Given the description of an element on the screen output the (x, y) to click on. 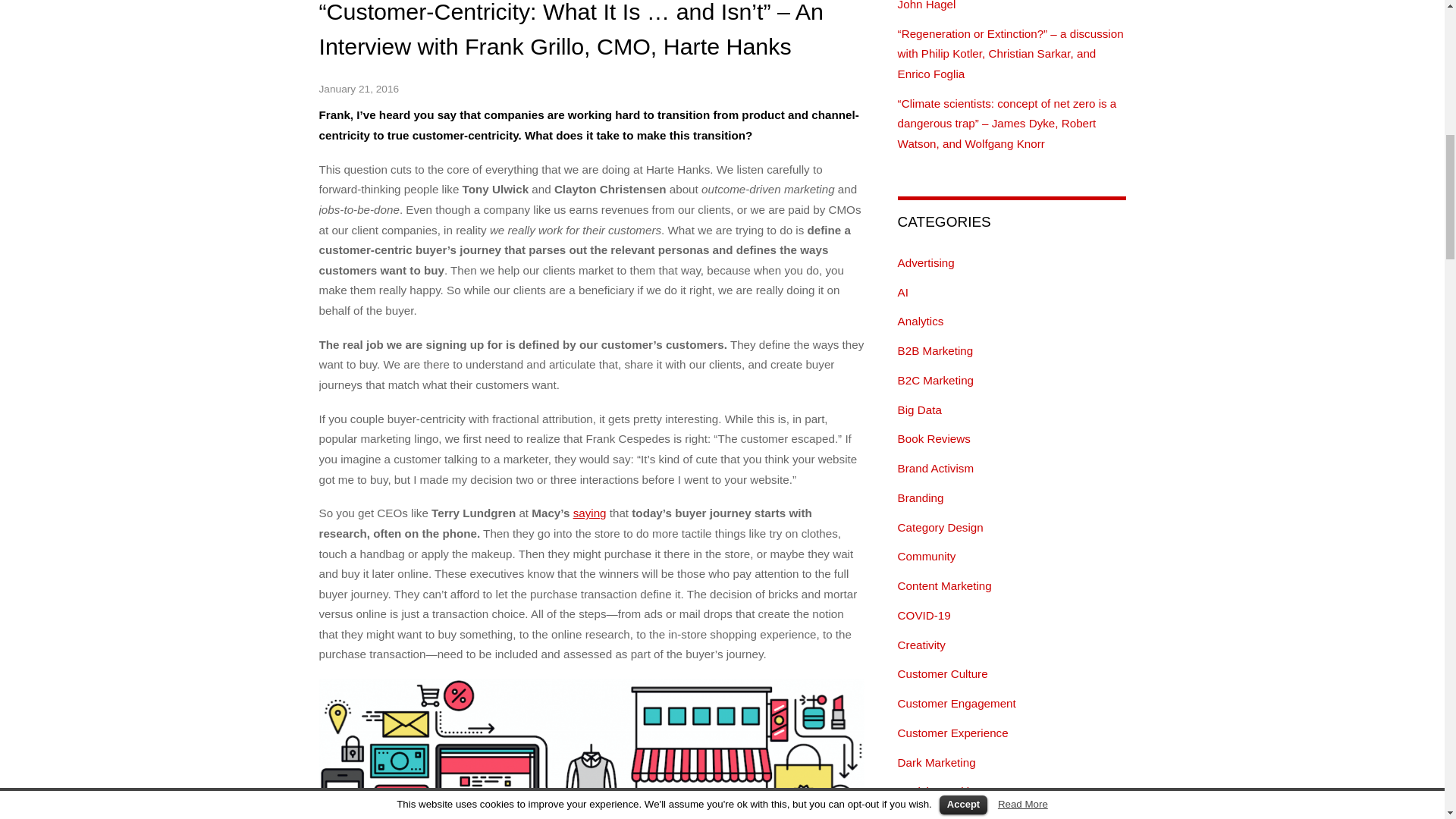
Analytics (920, 320)
Advertising (926, 262)
B2C Marketing (936, 379)
B2B Marketing (936, 350)
saying (590, 512)
